Given the description of an element on the screen output the (x, y) to click on. 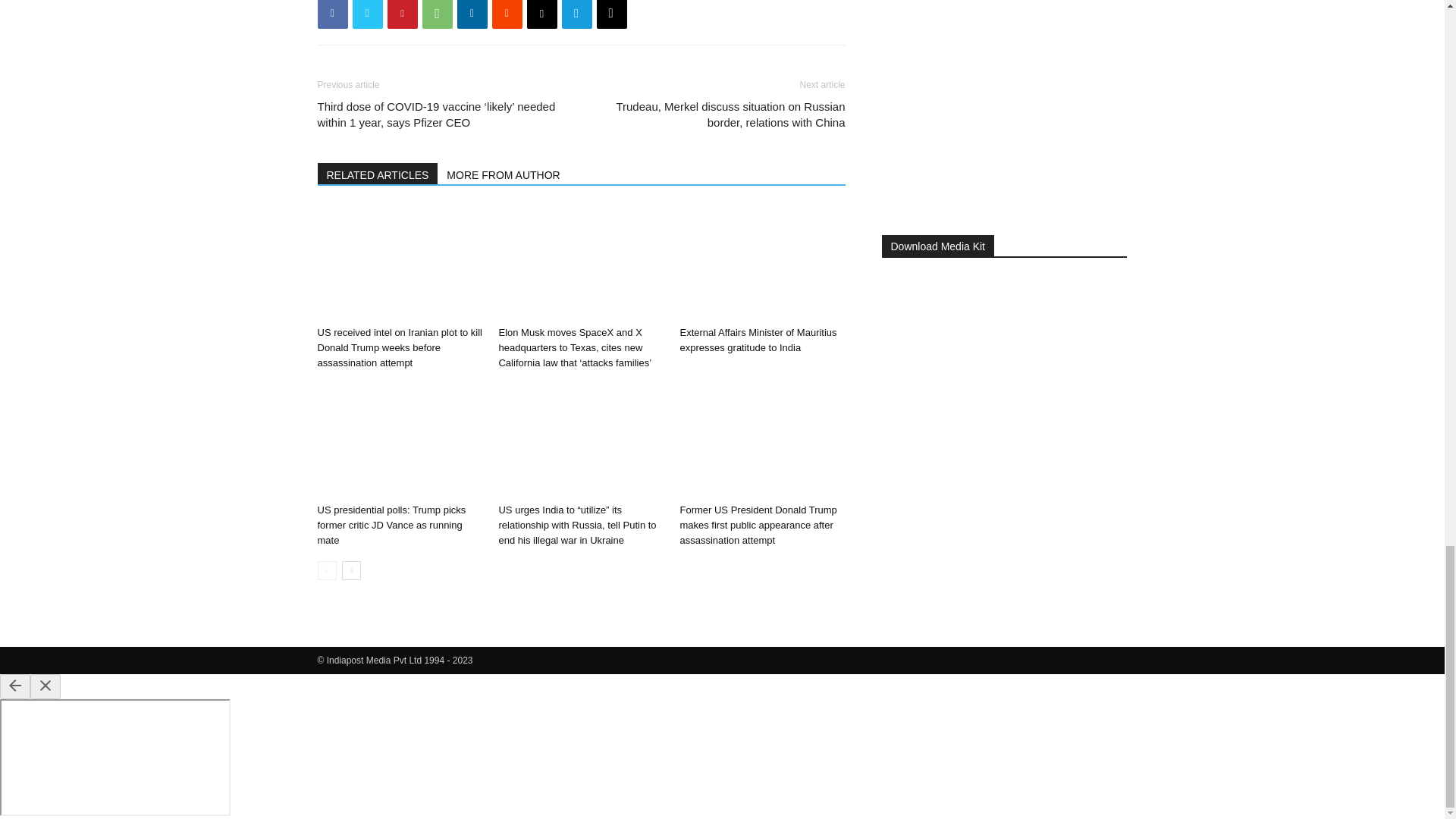
Facebook (332, 14)
Pinterest (401, 14)
Telegram (575, 14)
Linkedin (471, 14)
WhatsApp (436, 14)
ReddIt (506, 14)
Twitter (366, 14)
Email (540, 14)
